Given the description of an element on the screen output the (x, y) to click on. 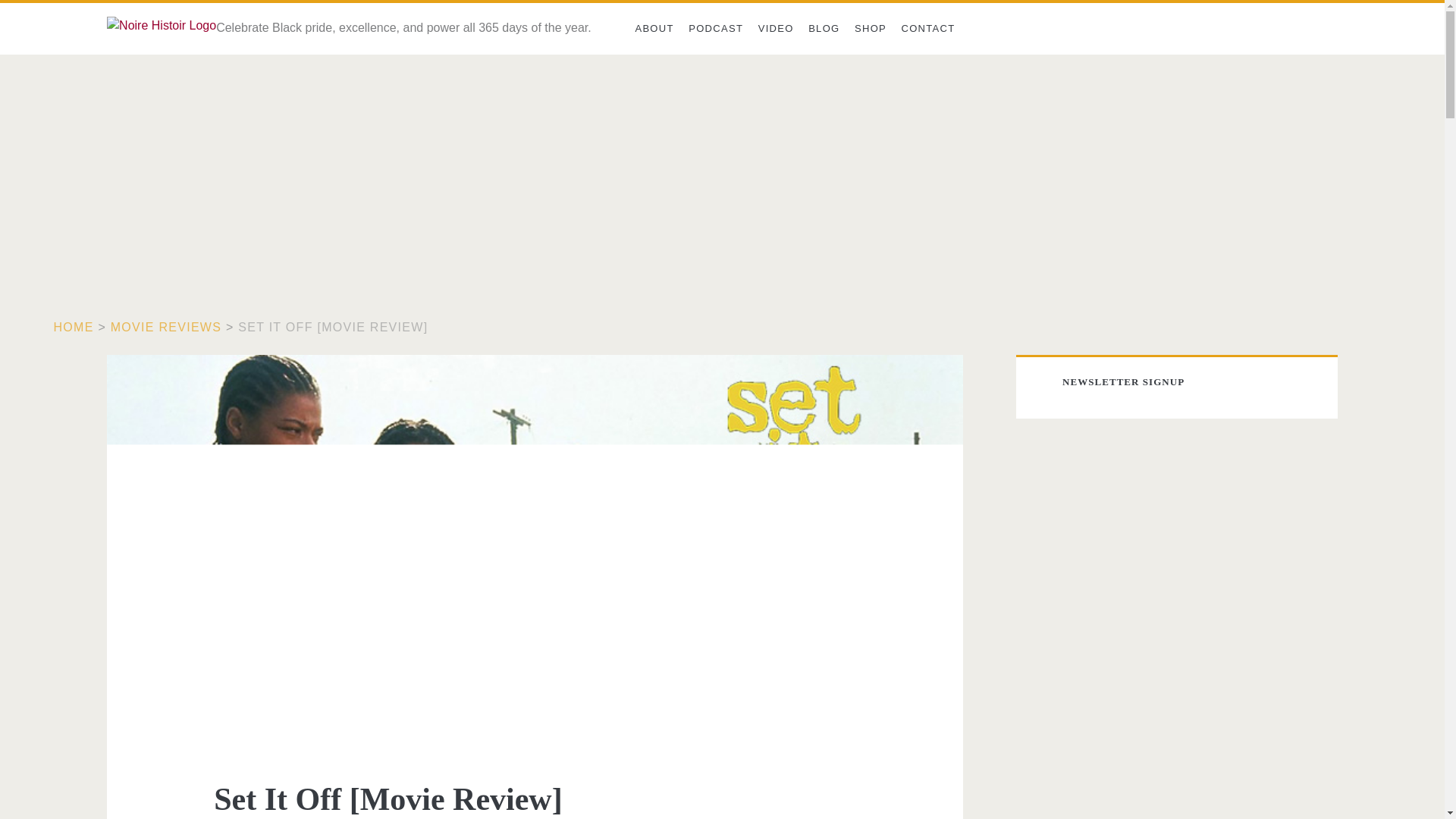
CONTACT (927, 28)
HOME (73, 327)
ABOUT (654, 28)
PODCAST (715, 28)
MOVIE REVIEWS (165, 327)
VIDEO (775, 28)
BLOG (823, 28)
Home (73, 327)
SHOP (870, 28)
